Given the description of an element on the screen output the (x, y) to click on. 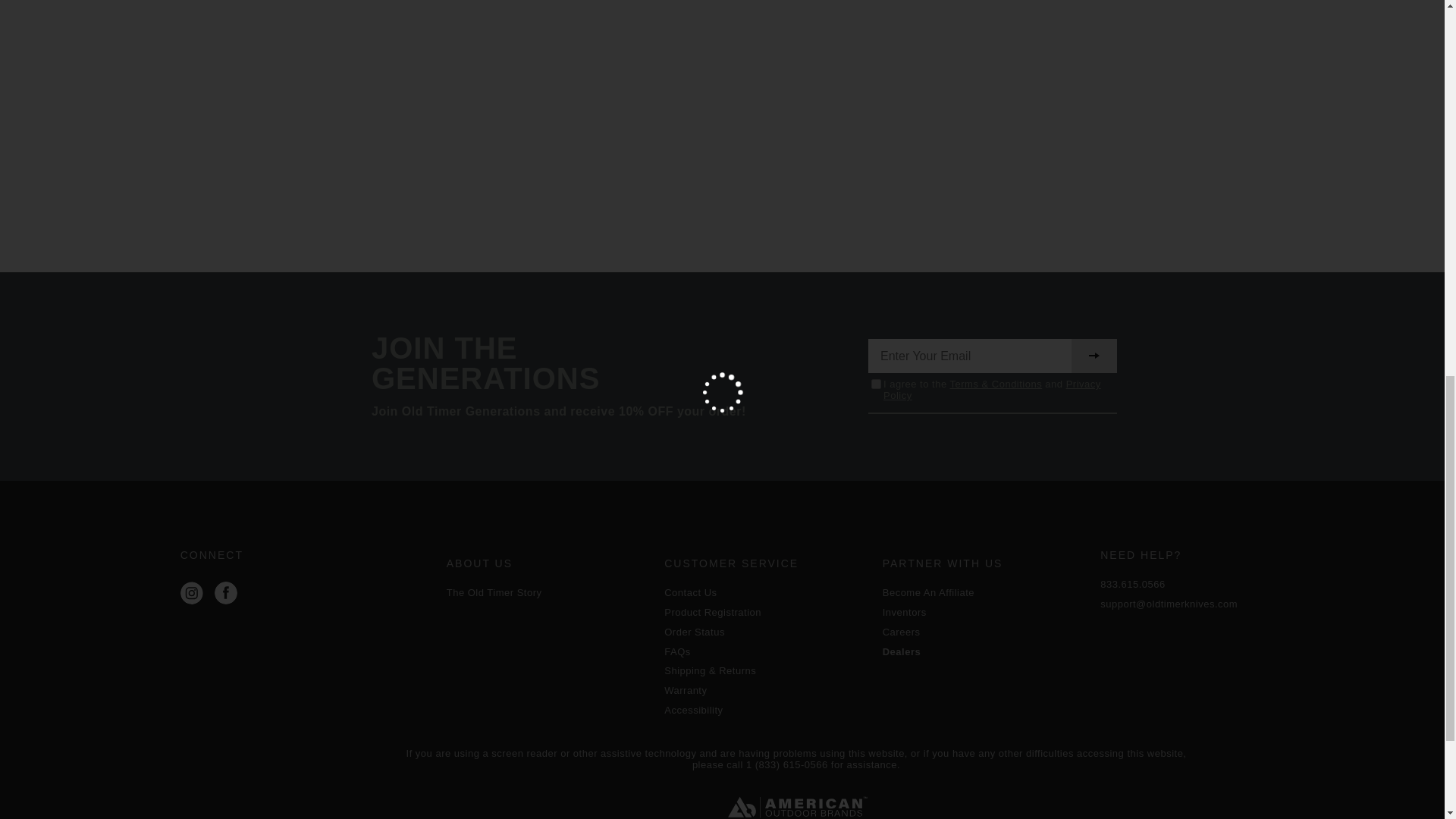
Privacy Policy (991, 389)
FAQs (765, 651)
SUBSCRIBE (1093, 356)
ABOUT US (547, 563)
Order Status (765, 632)
Contact Us (765, 592)
Product Registration (765, 612)
CUSTOMER SERVICE (765, 563)
The Old Timer Story (547, 592)
on (875, 384)
